Given the description of an element on the screen output the (x, y) to click on. 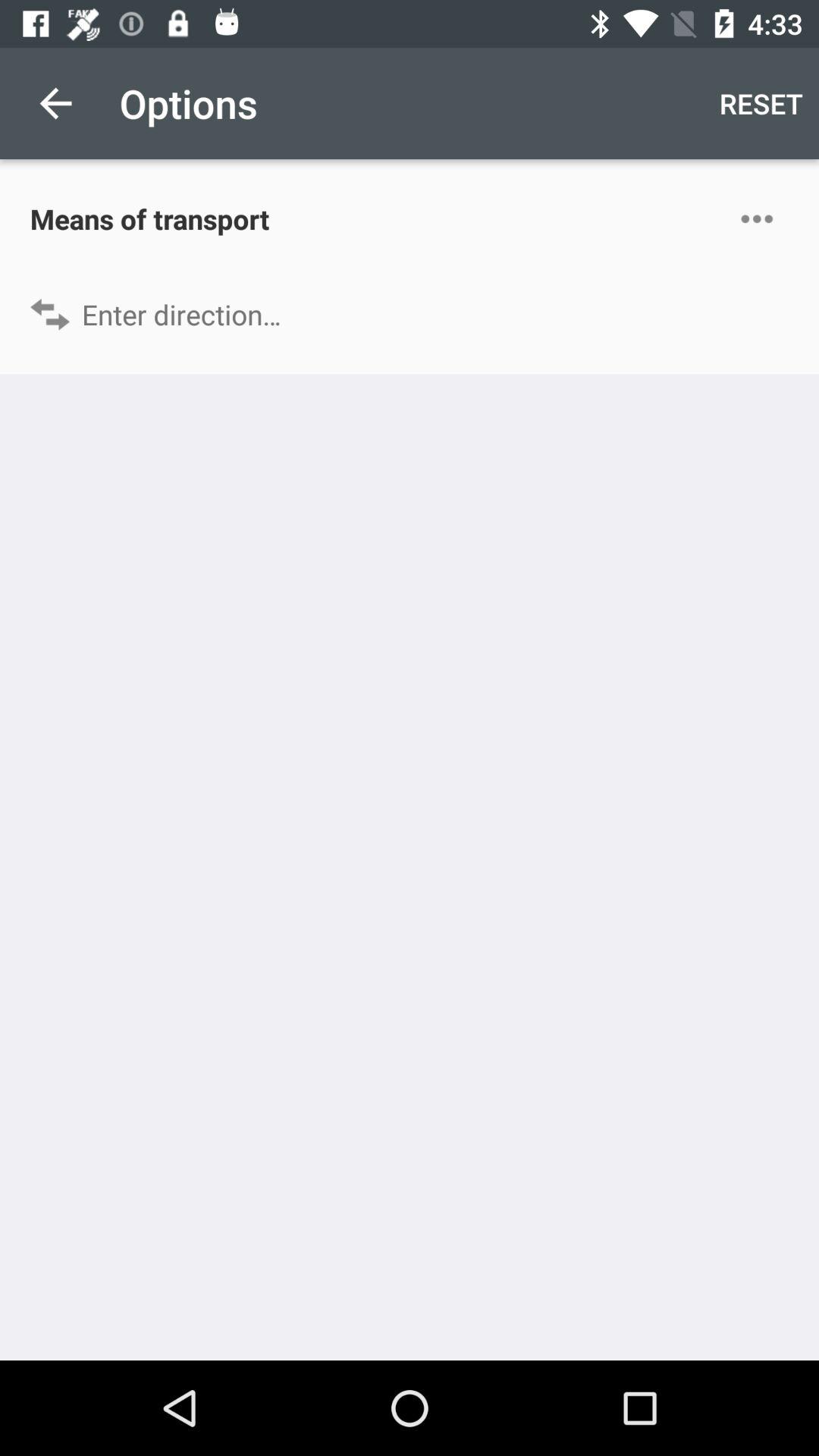
launch the icon above the means of transport icon (55, 103)
